Given the description of an element on the screen output the (x, y) to click on. 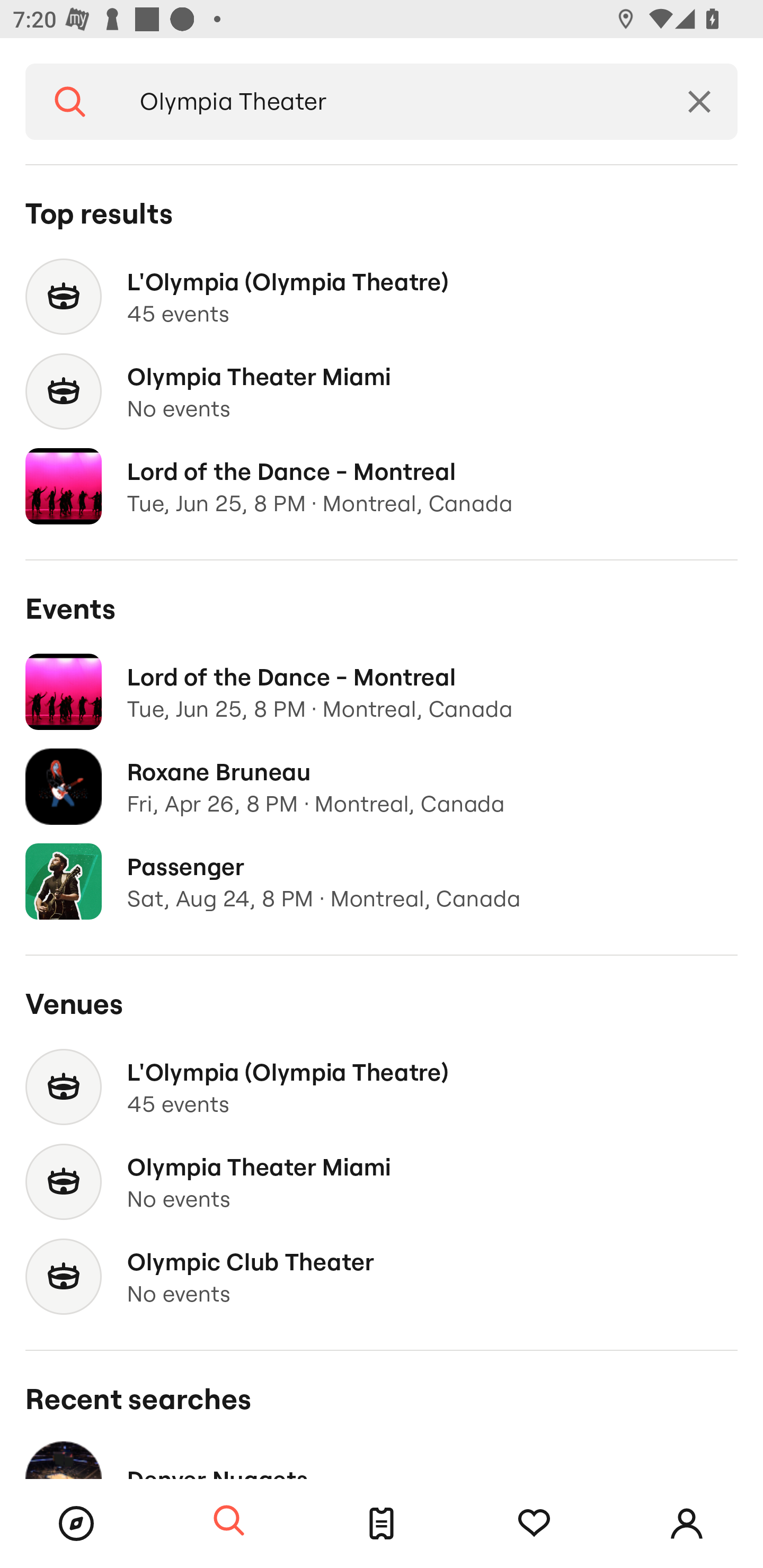
Search (69, 101)
Olympia Theater (387, 101)
Clear (699, 101)
L'Olympia (Olympia Theatre) 45 events (381, 296)
Olympia Theater Miami No events (381, 391)
Passenger Sat, Aug 24, 8 PM · Montreal, Canada (381, 881)
L'Olympia (Olympia Theatre) 45 events (381, 1087)
Olympia Theater Miami No events (381, 1182)
Olympic Club Theater No events (381, 1276)
Browse (76, 1523)
Search (228, 1521)
Tickets (381, 1523)
Tracking (533, 1523)
Account (686, 1523)
